Given the description of an element on the screen output the (x, y) to click on. 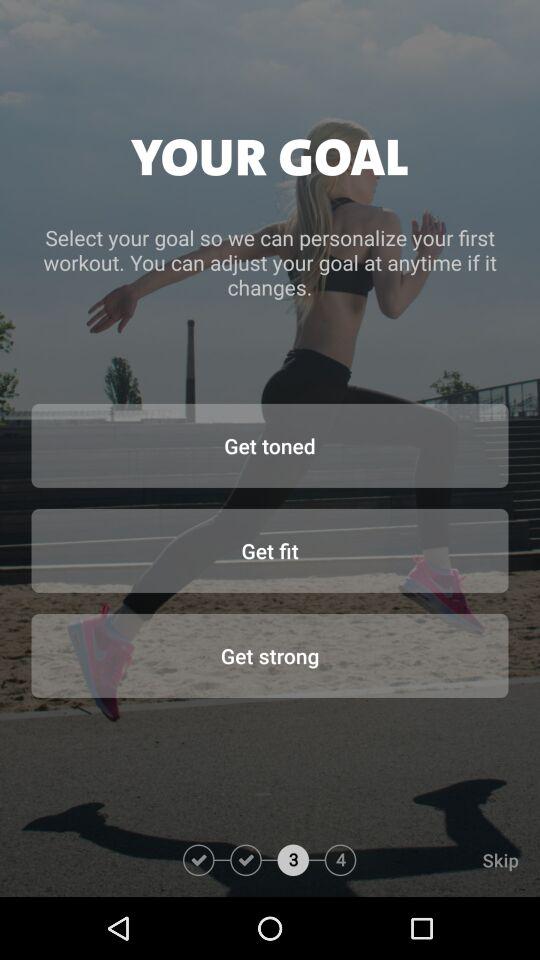
turn off get toned item (269, 445)
